Given the description of an element on the screen output the (x, y) to click on. 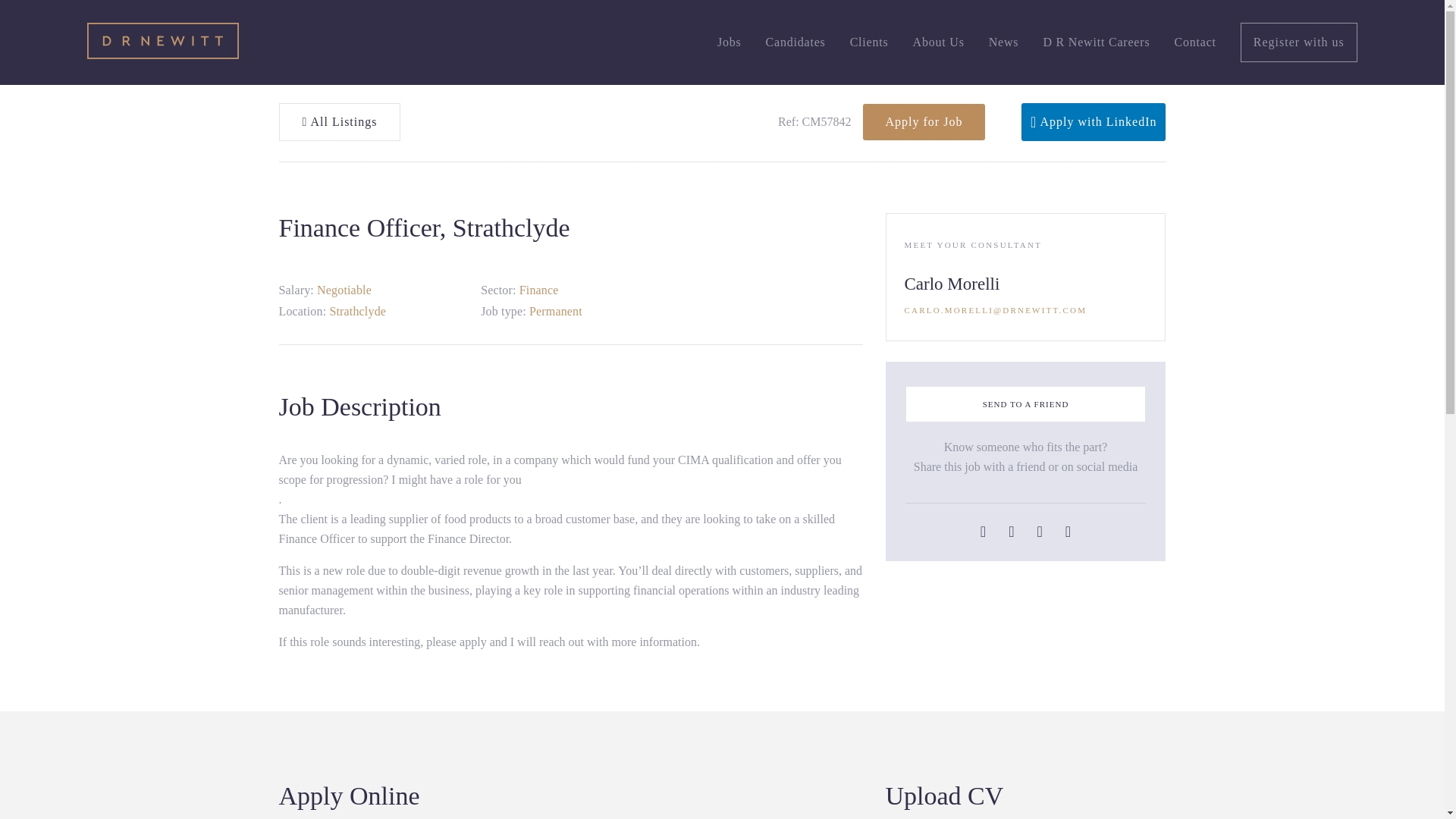
Candidates (795, 42)
Clients (869, 42)
All Listings (340, 121)
Giant Peach Home (162, 42)
SEND TO A FRIEND (1026, 404)
Jobs (729, 42)
D R Newitt Careers (1096, 42)
Apply for Job (924, 122)
News (1003, 42)
Register with us (1298, 42)
About Us (937, 42)
Apply with LinkedIn (1094, 121)
Contact (1194, 42)
